Given the description of an element on the screen output the (x, y) to click on. 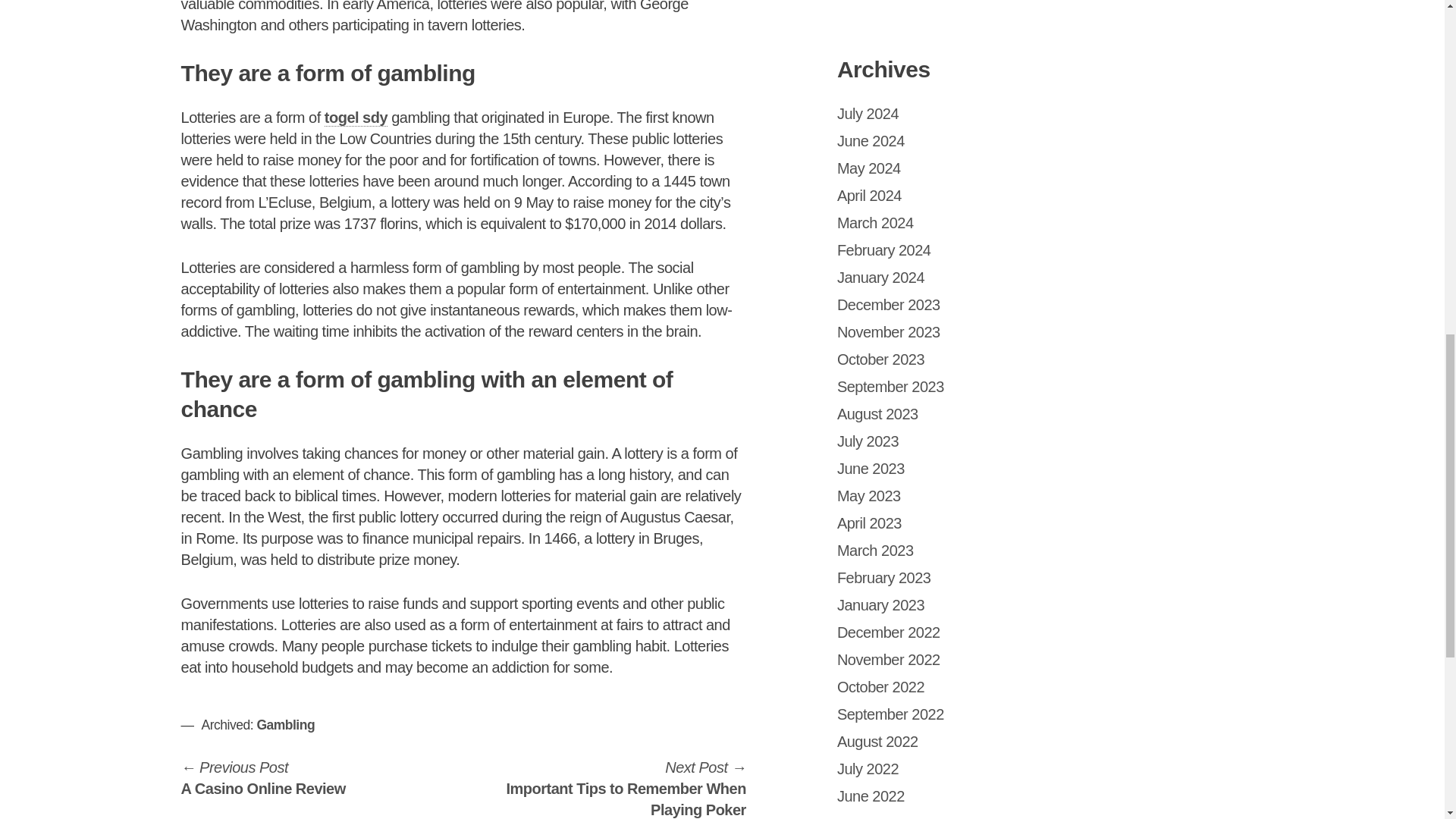
May 2023 (869, 495)
April 2023 (869, 523)
November 2022 (888, 659)
July 2024 (867, 113)
November 2023 (888, 331)
February 2023 (884, 577)
October 2023 (880, 359)
December 2022 (263, 777)
December 2023 (888, 632)
May 2024 (888, 304)
Gambling (869, 167)
April 2024 (285, 724)
September 2023 (869, 195)
March 2023 (890, 386)
